Given the description of an element on the screen output the (x, y) to click on. 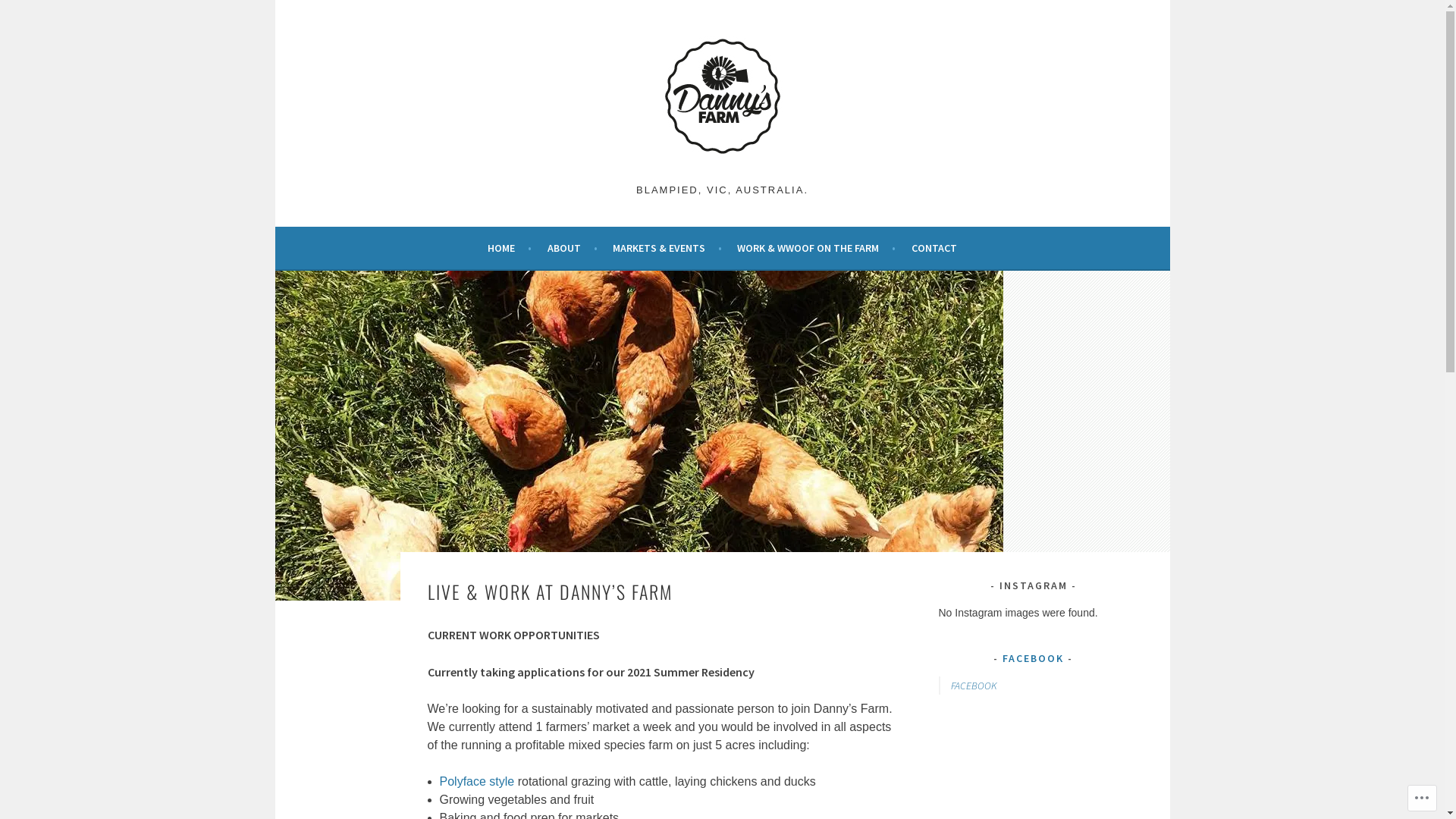
WORK & WWOOF ON THE FARM Element type: text (816, 247)
ABOUT Element type: text (572, 247)
FACEBOOK Element type: text (973, 685)
Polyface style Element type: text (476, 781)
MARKETS & EVENTS Element type: text (666, 247)
FACEBOOK Element type: text (1032, 658)
HOME Element type: text (509, 247)
CONTACT Element type: text (934, 247)
